Given the description of an element on the screen output the (x, y) to click on. 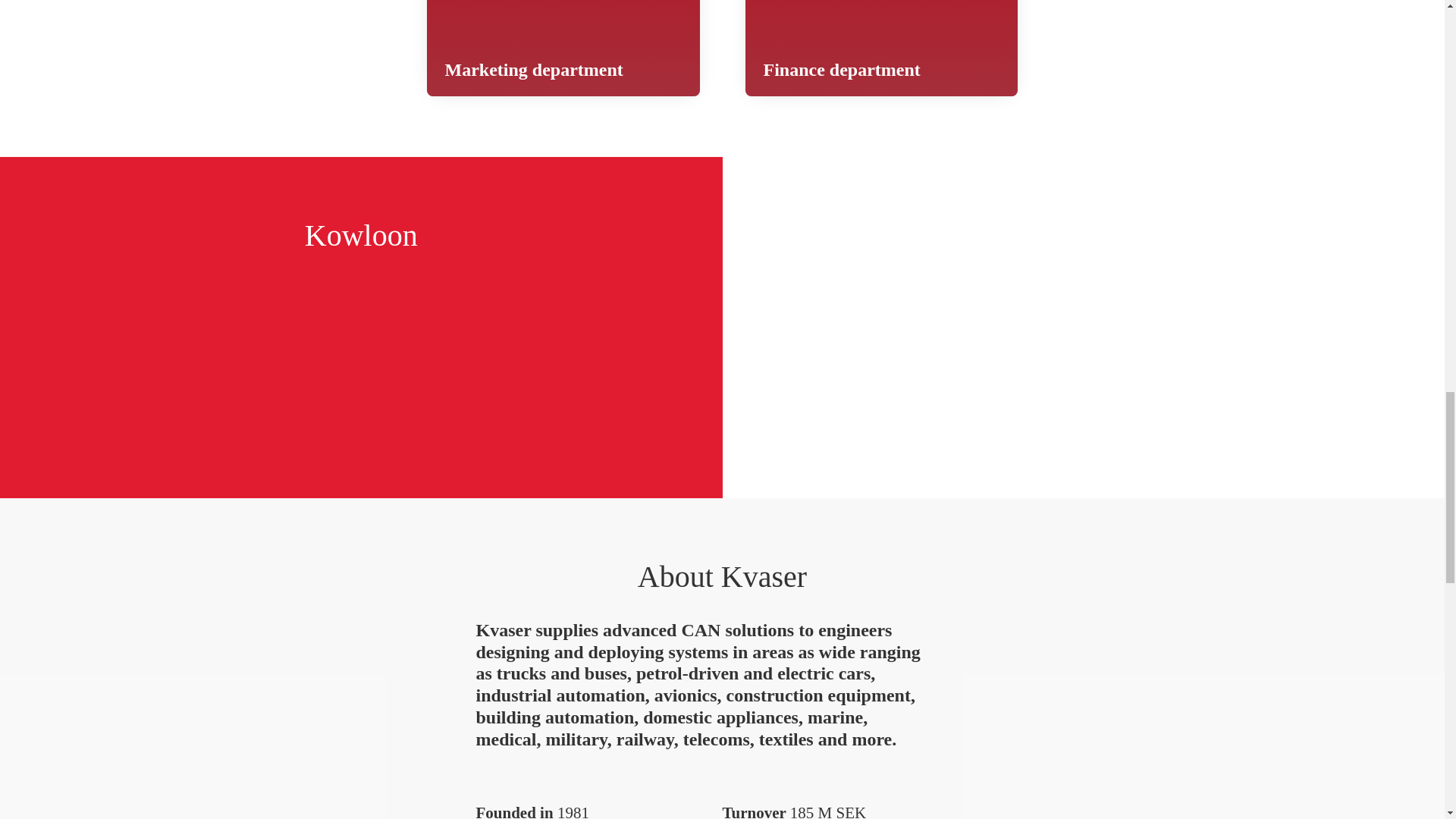
Marketing department (563, 48)
Finance department (880, 48)
